Given the description of an element on the screen output the (x, y) to click on. 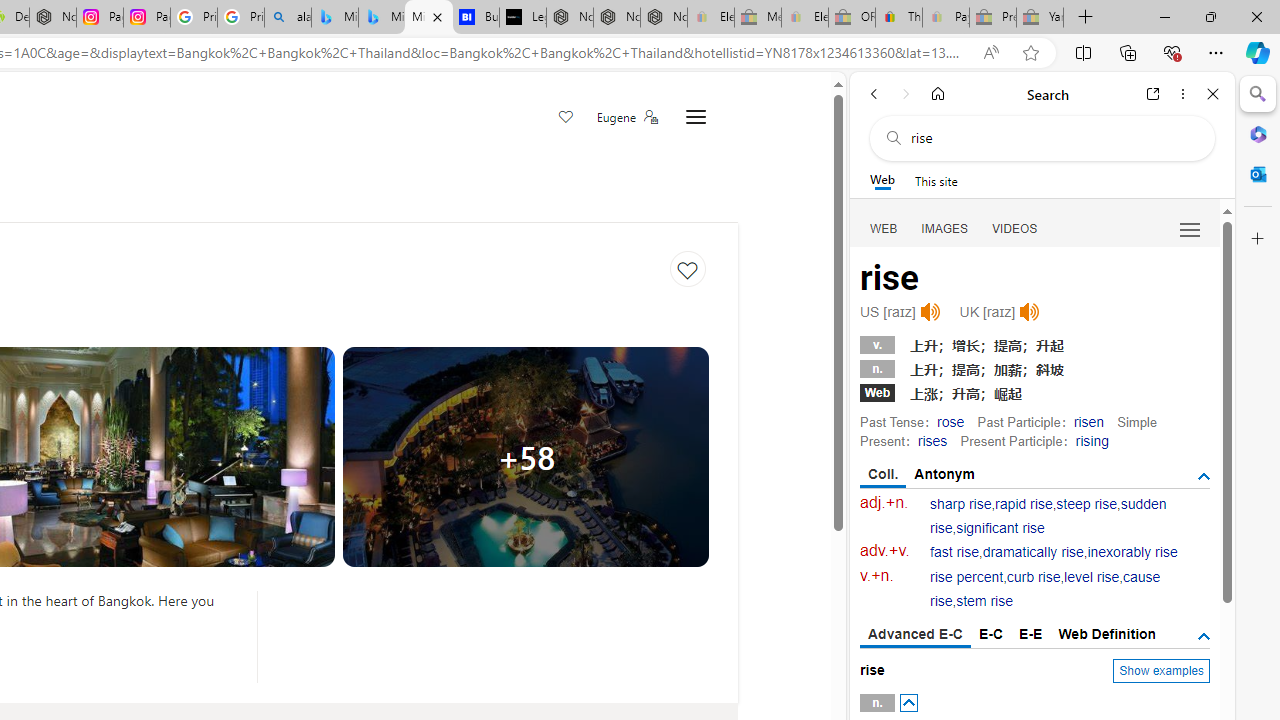
Payments Terms of Use | eBay.com - Sleeping (945, 17)
sudden rise (1048, 515)
Press Room - eBay Inc. - Sleeping (993, 17)
Hotel room image + 58 (525, 456)
risen (1088, 421)
Save (565, 118)
fast rise (955, 552)
